Given the description of an element on the screen output the (x, y) to click on. 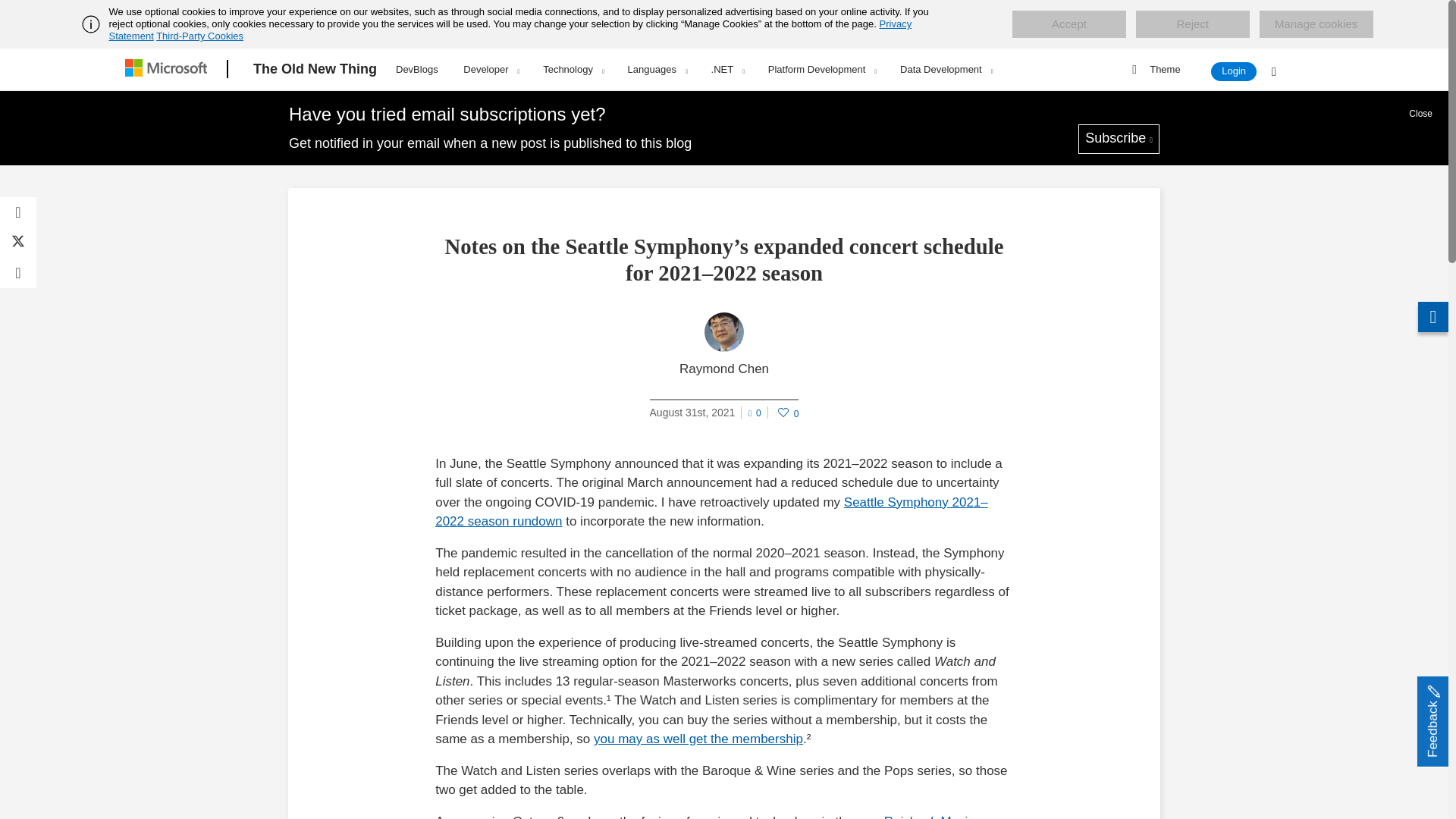
The Old New Thing (315, 69)
Accept (1068, 23)
Developer (490, 69)
Third-Party Cookies (199, 35)
Technology (572, 69)
Share on Facebook (18, 212)
Languages (657, 69)
Share on Twitter (18, 242)
Share on LinkedIn (18, 272)
DevBlogs (416, 67)
Privacy Statement (510, 29)
Reject (1192, 23)
Manage cookies (1316, 23)
